Given the description of an element on the screen output the (x, y) to click on. 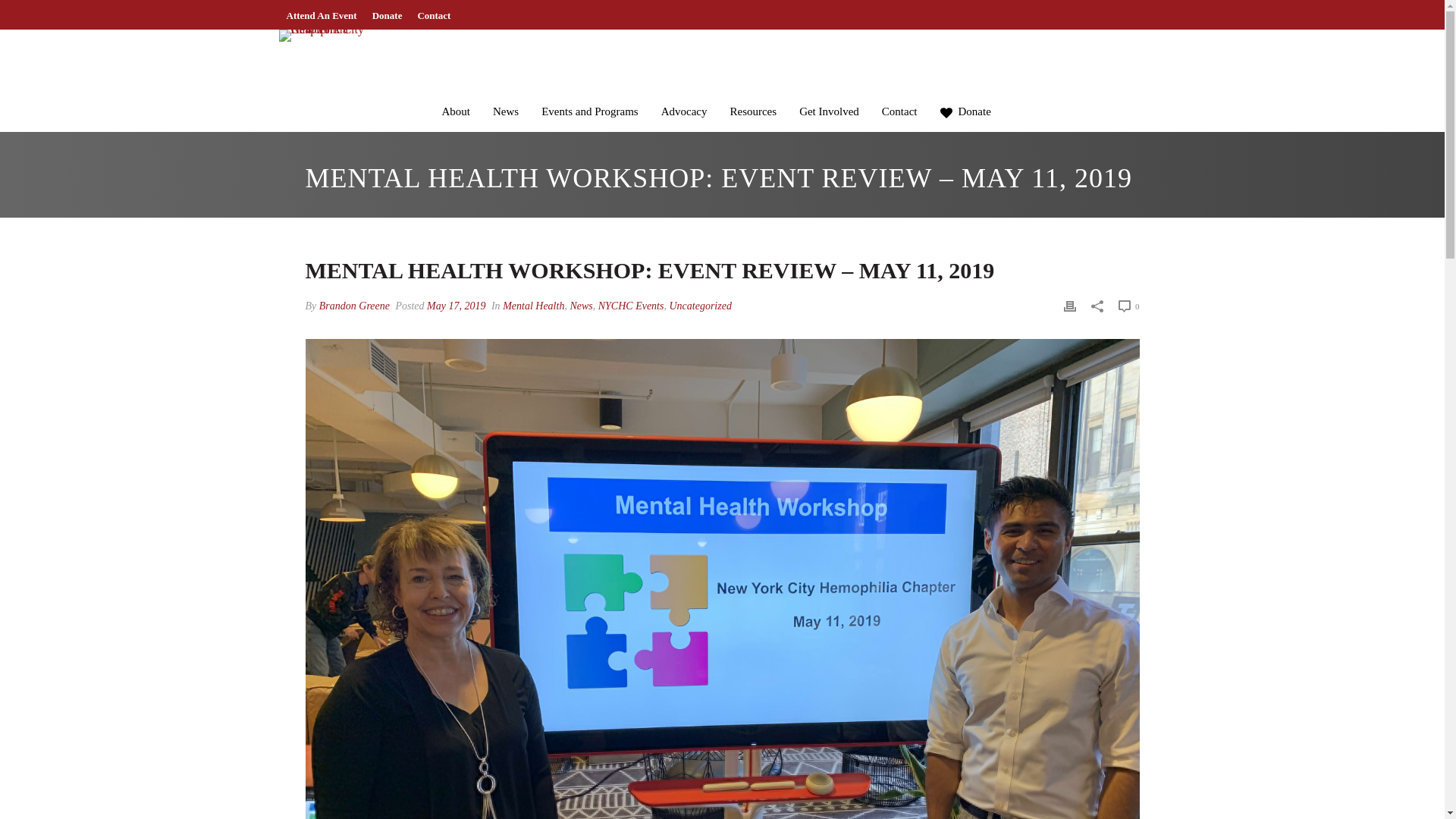
Contact (433, 15)
Events and Programs (589, 80)
Contact (433, 15)
Posts by Brandon Greene (354, 306)
Donate (387, 15)
Donate (387, 15)
Events and Programs (589, 80)
Attend An Event (322, 15)
Attend An Event (322, 15)
New York City Hemophilia Chapter (324, 35)
